Given the description of an element on the screen output the (x, y) to click on. 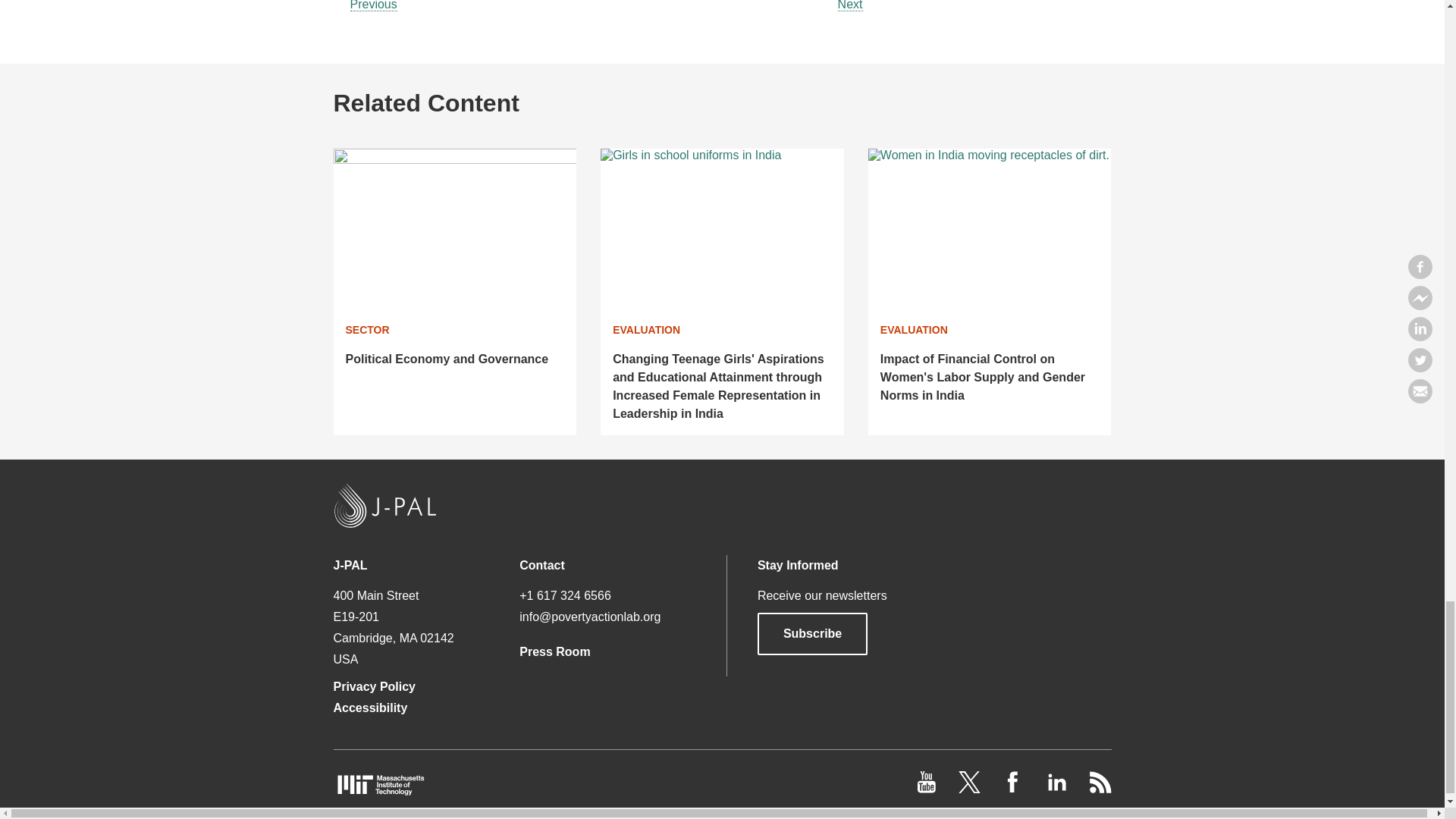
youtube (927, 788)
facebook (1015, 788)
rss feed (1099, 788)
LinkedIn (1057, 788)
twitter (971, 788)
